Given the description of an element on the screen output the (x, y) to click on. 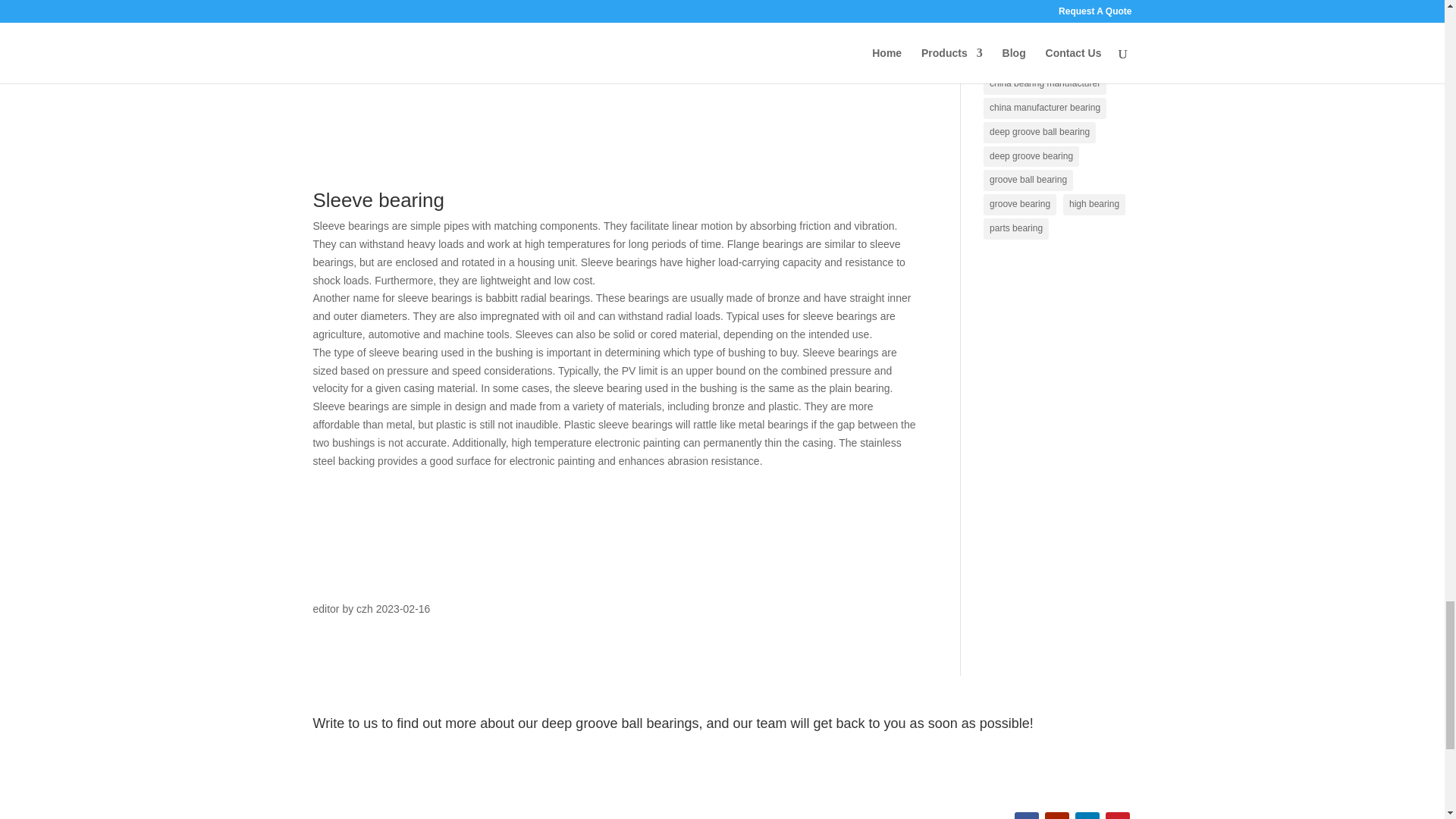
Follow on Youtube (1056, 815)
Follow on Pinterest (1117, 815)
Follow on Facebook (1026, 815)
Follow on LinkedIn (1087, 815)
